Given the description of an element on the screen output the (x, y) to click on. 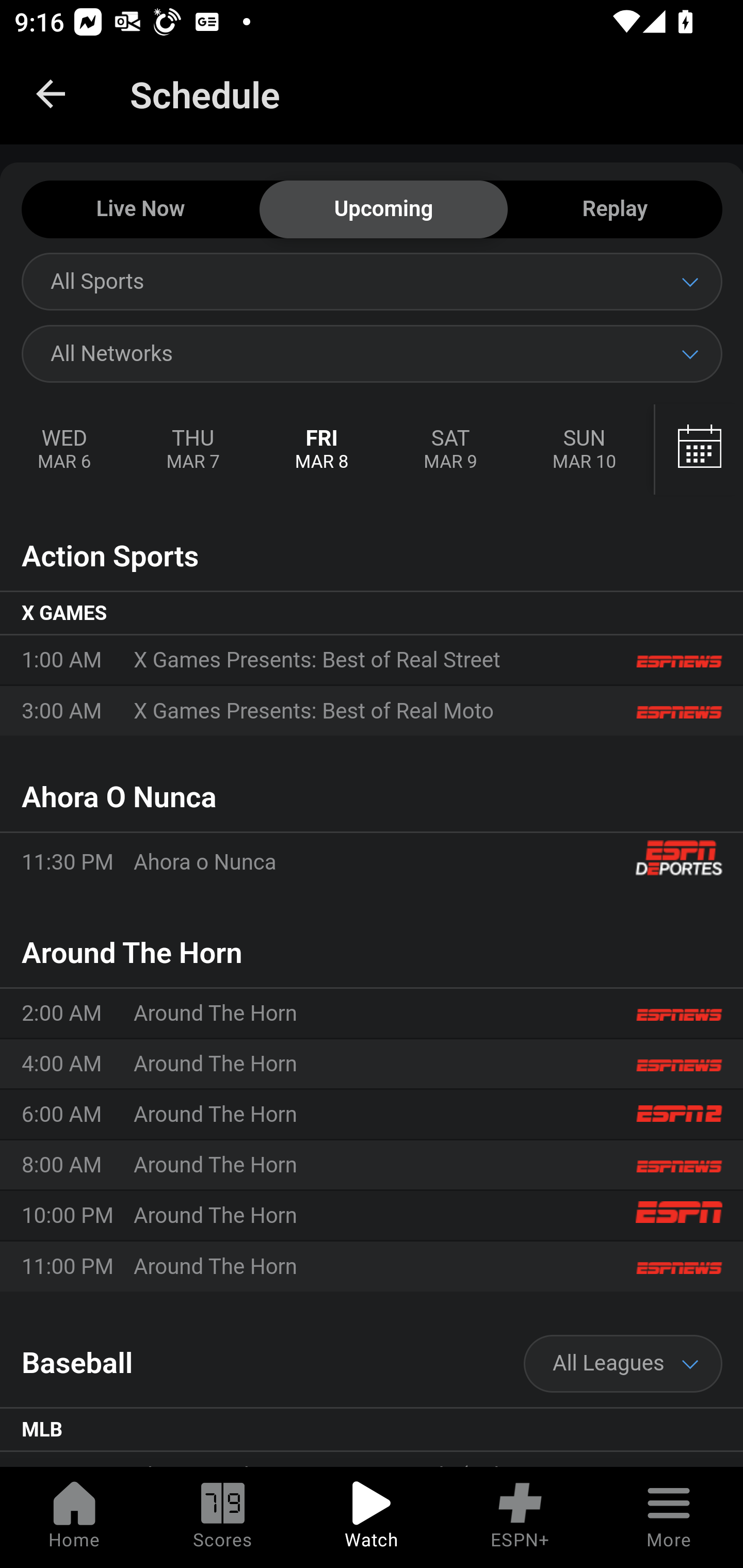
back.button (50, 93)
Live Now (140, 209)
Upcoming (382, 209)
Replay (614, 209)
All Sports (371, 281)
All Networks (371, 353)
WED MAR 6 (65, 449)
THU MAR 7 (192, 449)
FRI MAR 8 (321, 449)
SAT MAR 9 (450, 449)
SUN MAR 10 (583, 449)
MON MAR 11 (697, 449)
All Leagues (622, 1363)
Home (74, 1517)
Scores (222, 1517)
ESPN+ (519, 1517)
More (668, 1517)
